Given the description of an element on the screen output the (x, y) to click on. 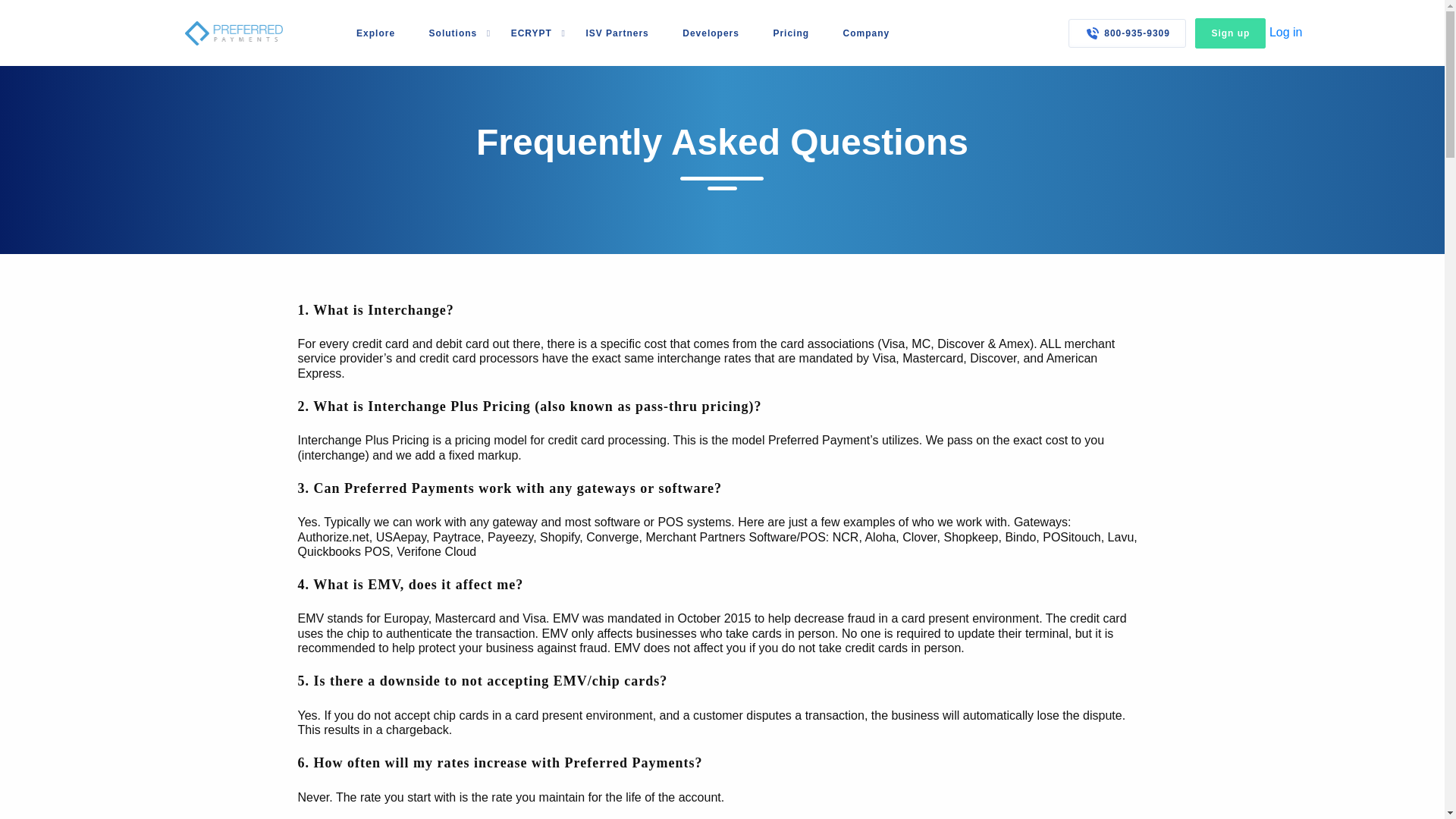
Log in (1286, 31)
800-935-9309 (1127, 32)
Developers (710, 33)
Explore (375, 33)
Sign up (1230, 33)
Solutions (453, 33)
Company (866, 33)
Pricing (791, 33)
ISV Partners (616, 33)
ECRYPT (531, 33)
